Given the description of an element on the screen output the (x, y) to click on. 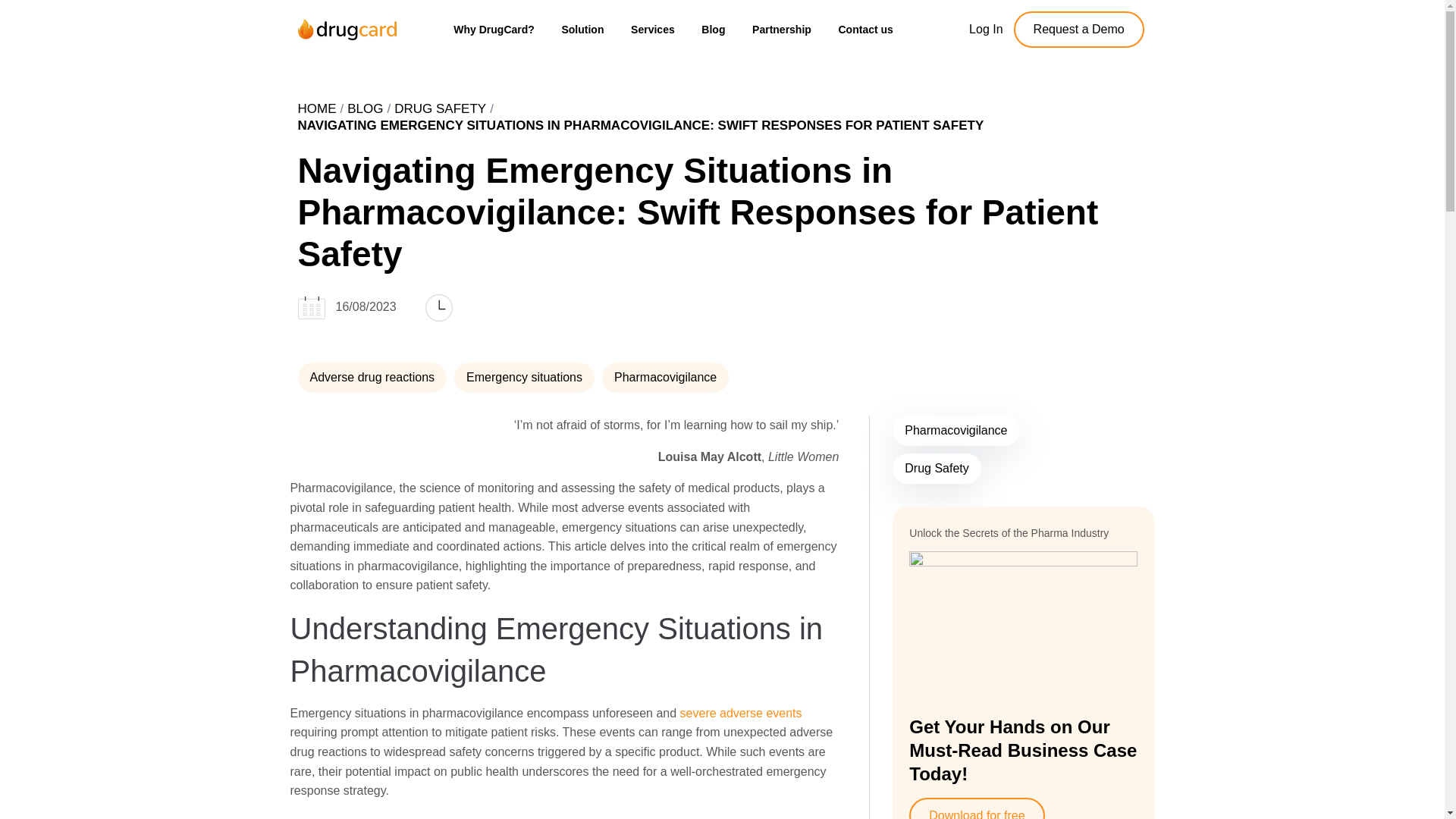
Blog (713, 29)
Request a Demo (1078, 29)
Partnership (781, 29)
Pharmacovigilance (955, 430)
DRUG SAFETY (440, 108)
HOME (316, 108)
Drug Safety (935, 468)
Adverse drug reactions (371, 377)
Blog (364, 108)
Pharmacovigilance (665, 377)
Home (316, 108)
severe adverse events (740, 712)
Solution (582, 29)
Download for free (975, 808)
Log In (985, 29)
